Given the description of an element on the screen output the (x, y) to click on. 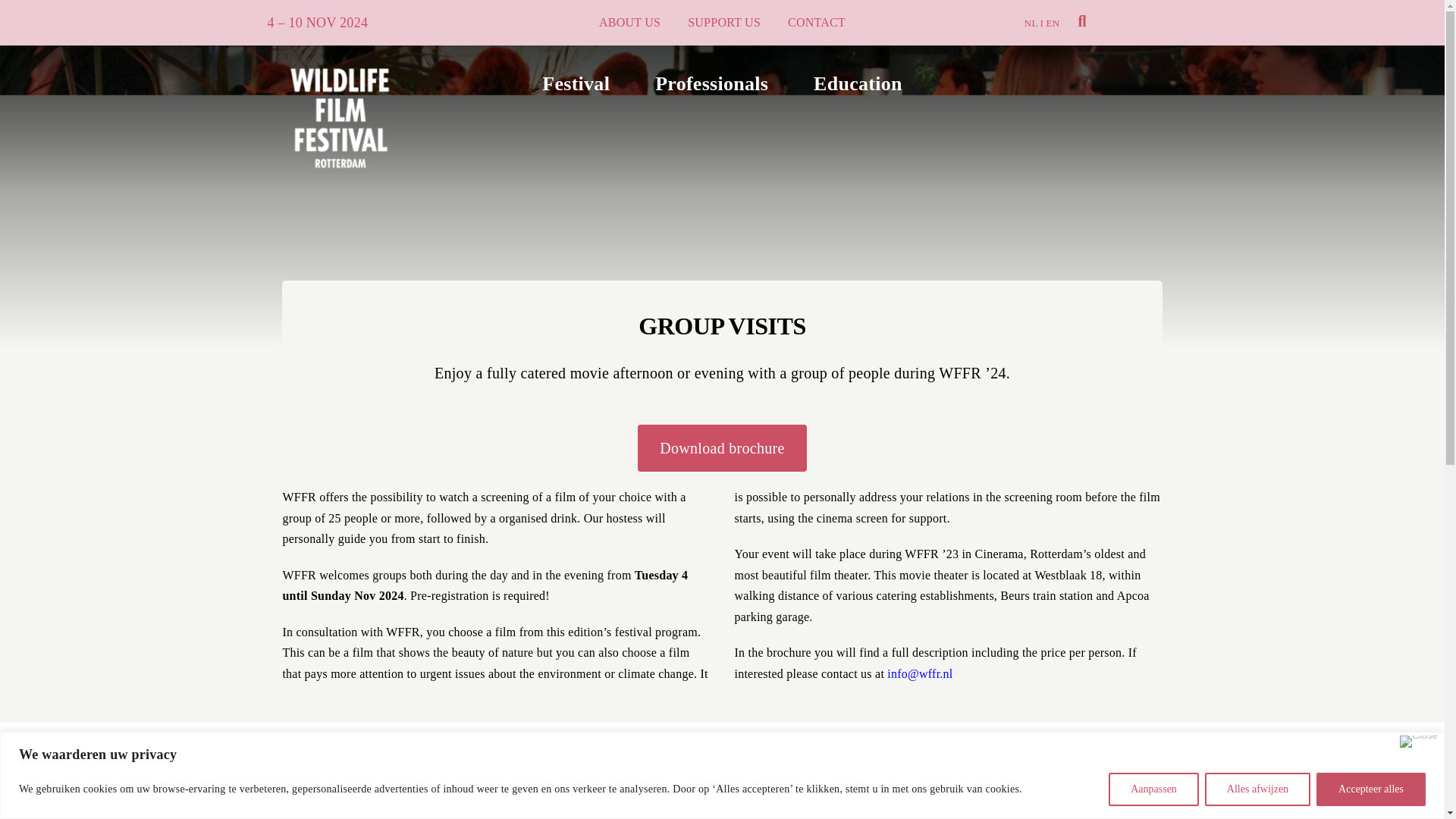
ABOUT US (629, 22)
Aanpassen (1153, 788)
Education (857, 84)
CONTACT (816, 22)
Download brochure (721, 455)
NL (1030, 22)
Professionals (711, 84)
EN (1052, 22)
Accepteer alles (1370, 788)
Download brochure (721, 448)
Festival (575, 84)
SUPPORT US (723, 22)
Alles afwijzen (1257, 788)
